Given the description of an element on the screen output the (x, y) to click on. 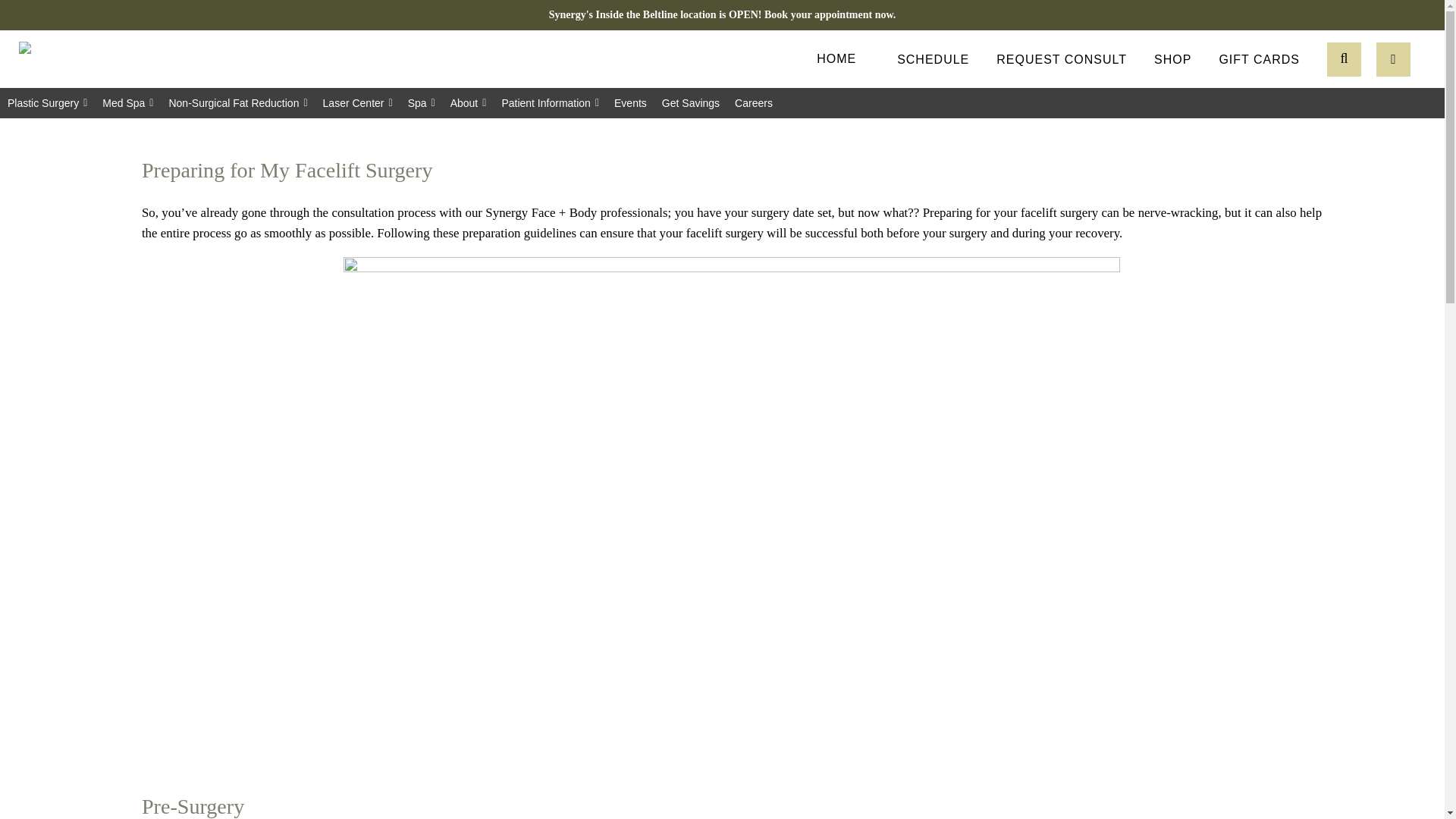
GIFT CARDS (1259, 58)
SHOP (1172, 58)
REQUEST CONSULT (1060, 58)
SCHEDULE (932, 58)
Plastic Surgery (47, 102)
HOME (836, 58)
